Given the description of an element on the screen output the (x, y) to click on. 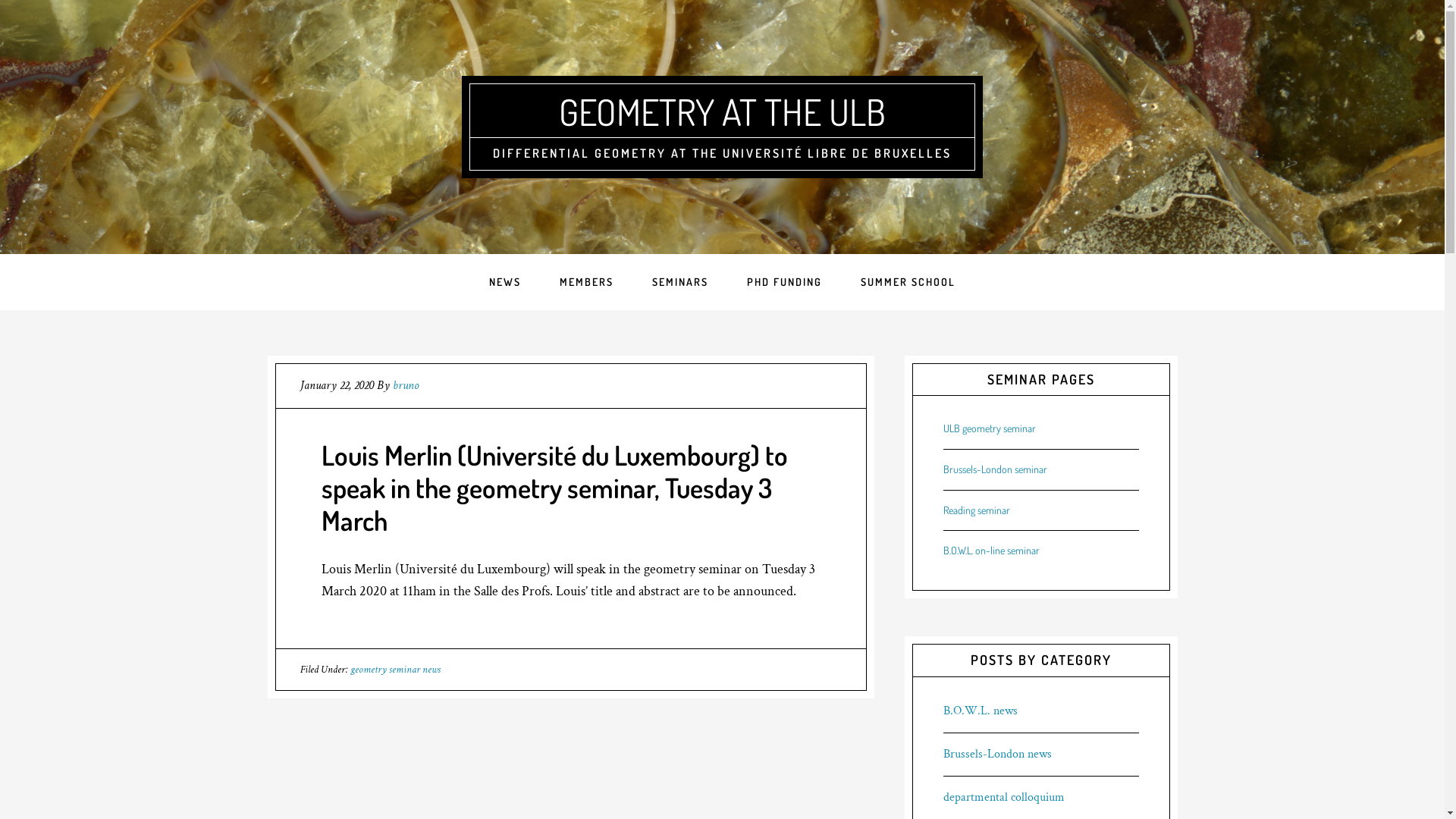
SEMINARS Element type: text (679, 282)
ULB geometry seminar Element type: text (989, 427)
SUMMER SCHOOL Element type: text (907, 282)
PHD FUNDING Element type: text (784, 282)
NEWS Element type: text (504, 282)
Reading seminar Element type: text (976, 509)
Brussels-London seminar Element type: text (995, 468)
Brussels-London news Element type: text (997, 754)
B.O.W.L. on-line seminar Element type: text (991, 549)
bruno Element type: text (405, 385)
GEOMETRY AT THE ULB Element type: text (721, 111)
B.O.W.L. news Element type: text (980, 710)
departmental colloquium Element type: text (1003, 797)
geometry seminar news Element type: text (395, 669)
MEMBERS Element type: text (586, 282)
